Given the description of an element on the screen output the (x, y) to click on. 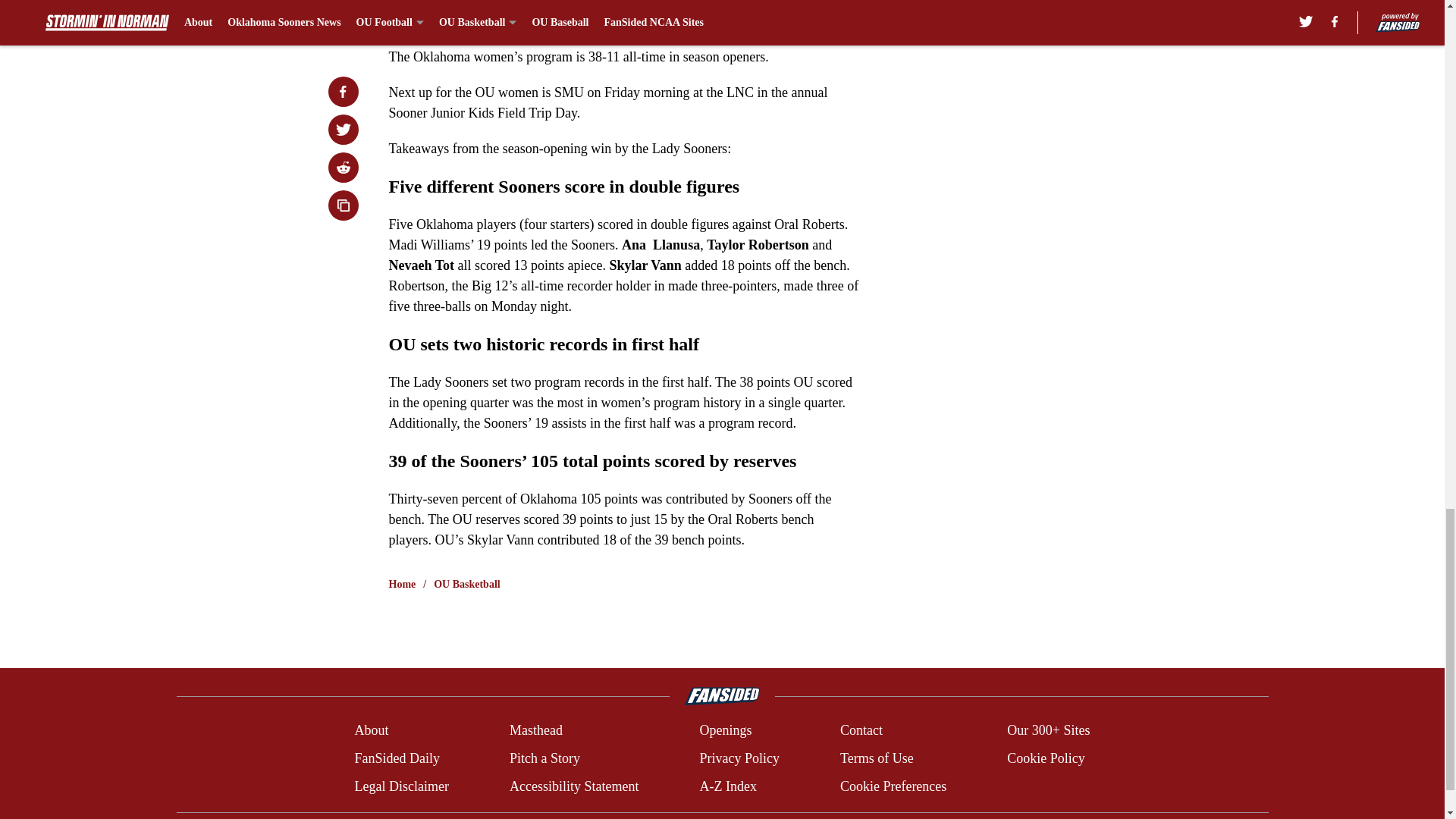
Terms of Use (877, 758)
About (370, 730)
Masthead (535, 730)
Home (401, 584)
Legal Disclaimer (400, 786)
OU Basketball (466, 584)
Cookie Preferences (893, 786)
Openings (724, 730)
FanSided Daily (396, 758)
Pitch a Story (544, 758)
